Given the description of an element on the screen output the (x, y) to click on. 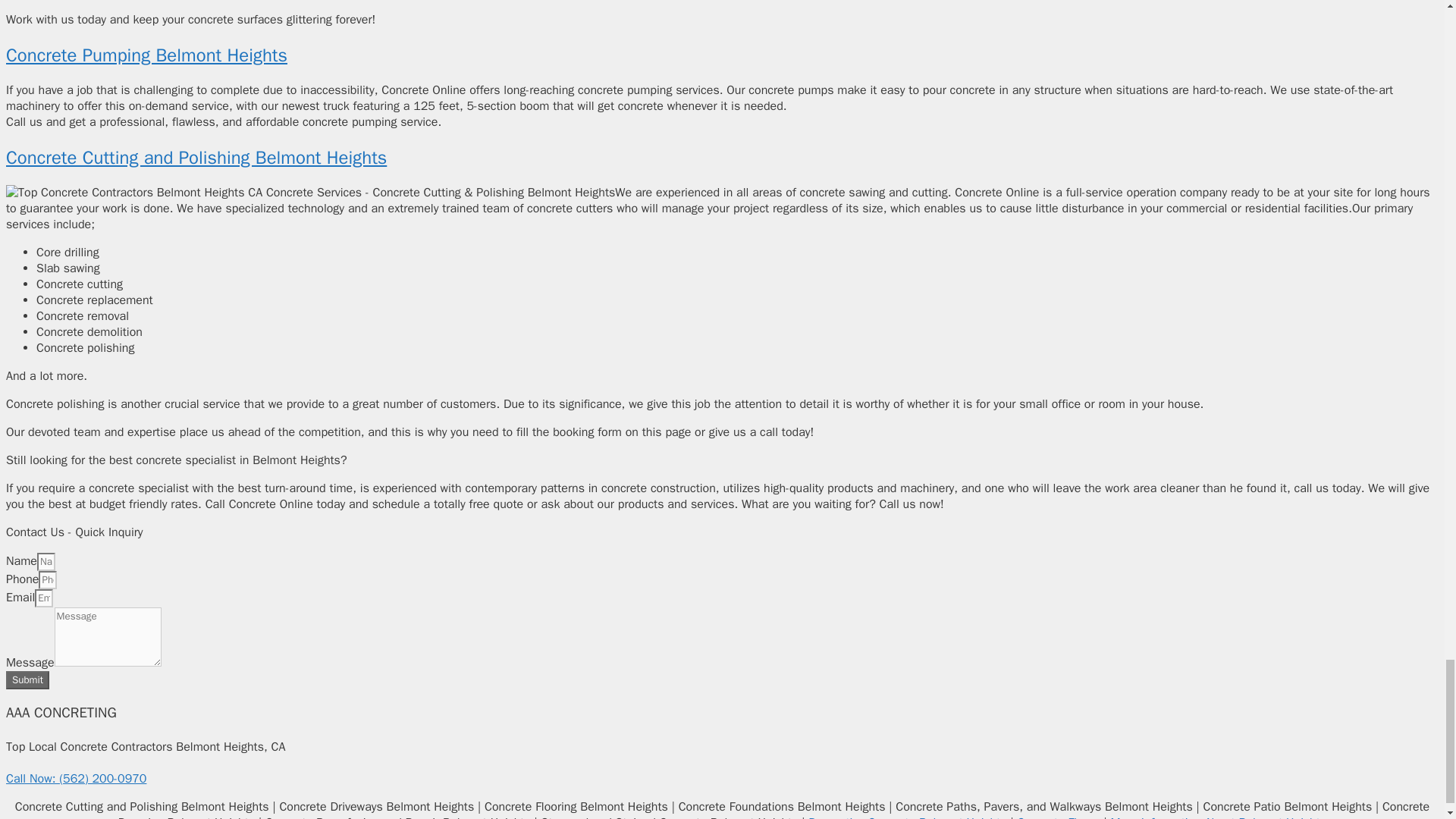
Concrete Pumping Belmont Heights (145, 55)
Submit (27, 679)
Concrete Cutting and Polishing Belmont Heights (196, 157)
